Given the description of an element on the screen output the (x, y) to click on. 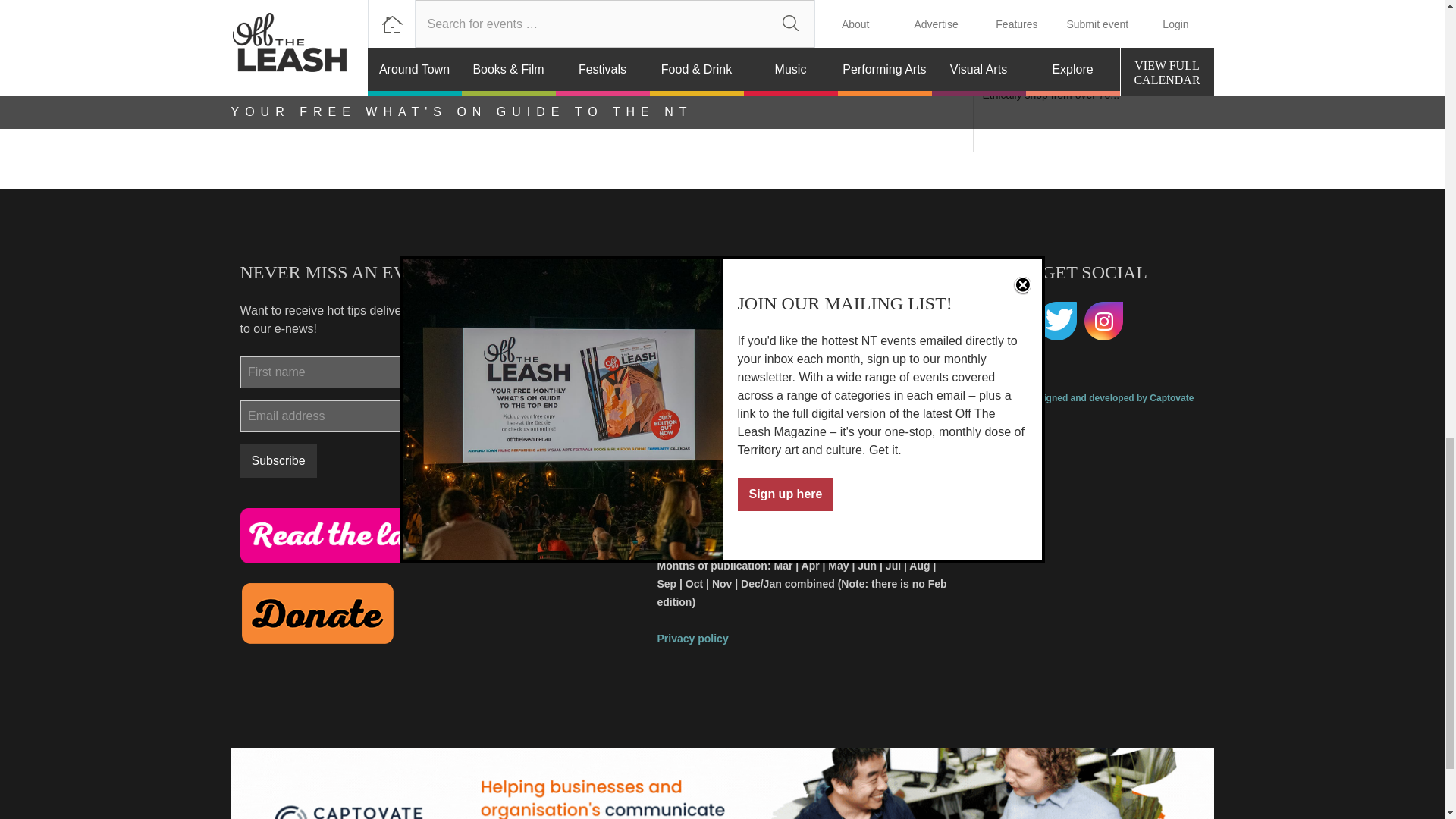
Share on Facebook (249, 24)
PayPal - The safer, easier way to pay online! (1093, 8)
Darwin Aboriginal Art Fair 2024 (317, 613)
Share on Instagram (1071, 35)
Tweet this on twitter (344, 24)
Subscribe (297, 24)
Subscribe (277, 460)
